Given the description of an element on the screen output the (x, y) to click on. 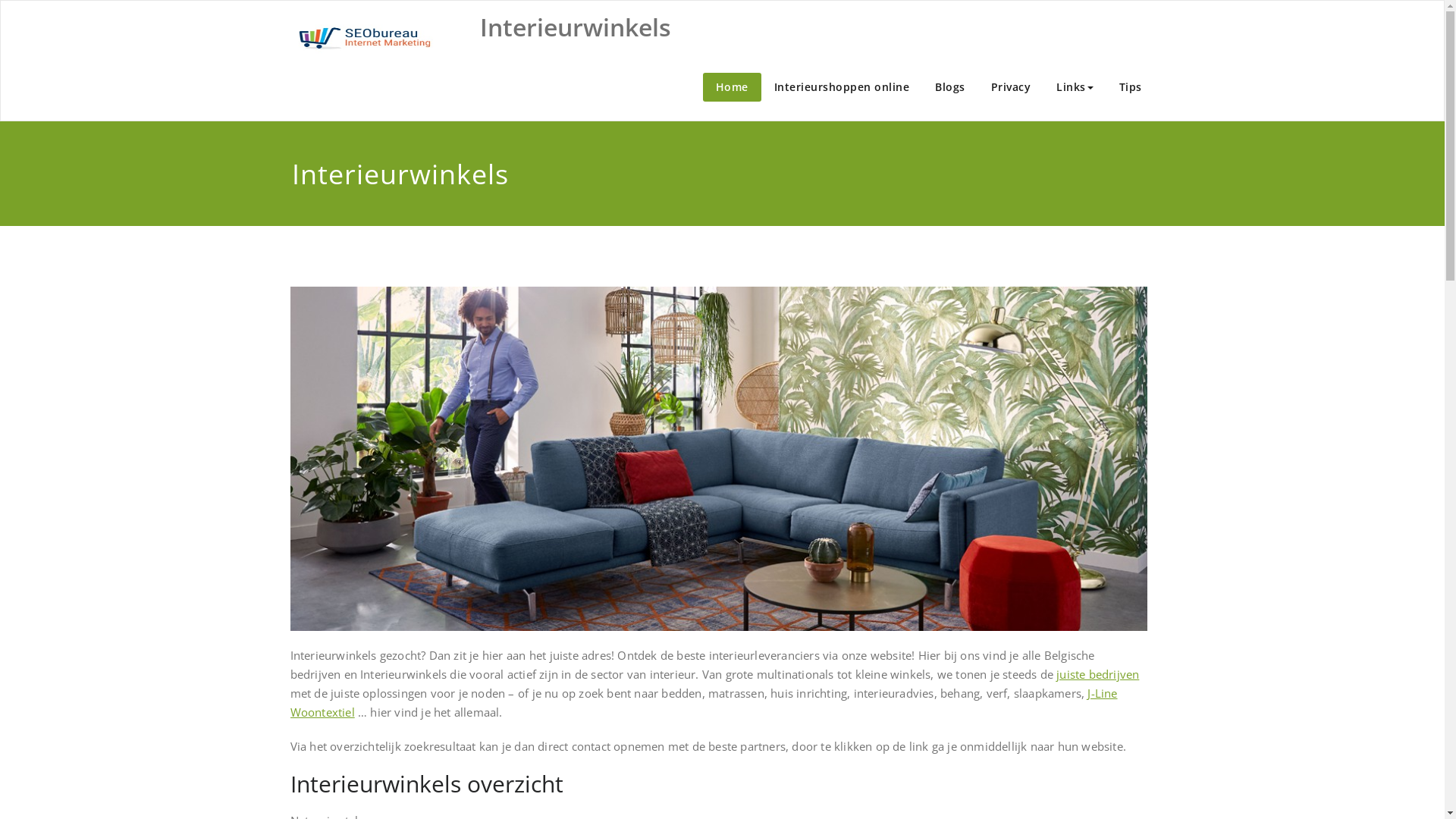
Privacy Element type: text (1011, 86)
Interieurshoppen online Element type: text (841, 86)
Blogs Element type: text (950, 86)
J-Line Woontextiel Element type: text (703, 702)
Home Element type: text (731, 86)
Tips Element type: text (1129, 86)
Links Element type: text (1074, 86)
Interieurwinkels Element type: text (574, 27)
juiste bedrijven Element type: text (1097, 673)
